Given the description of an element on the screen output the (x, y) to click on. 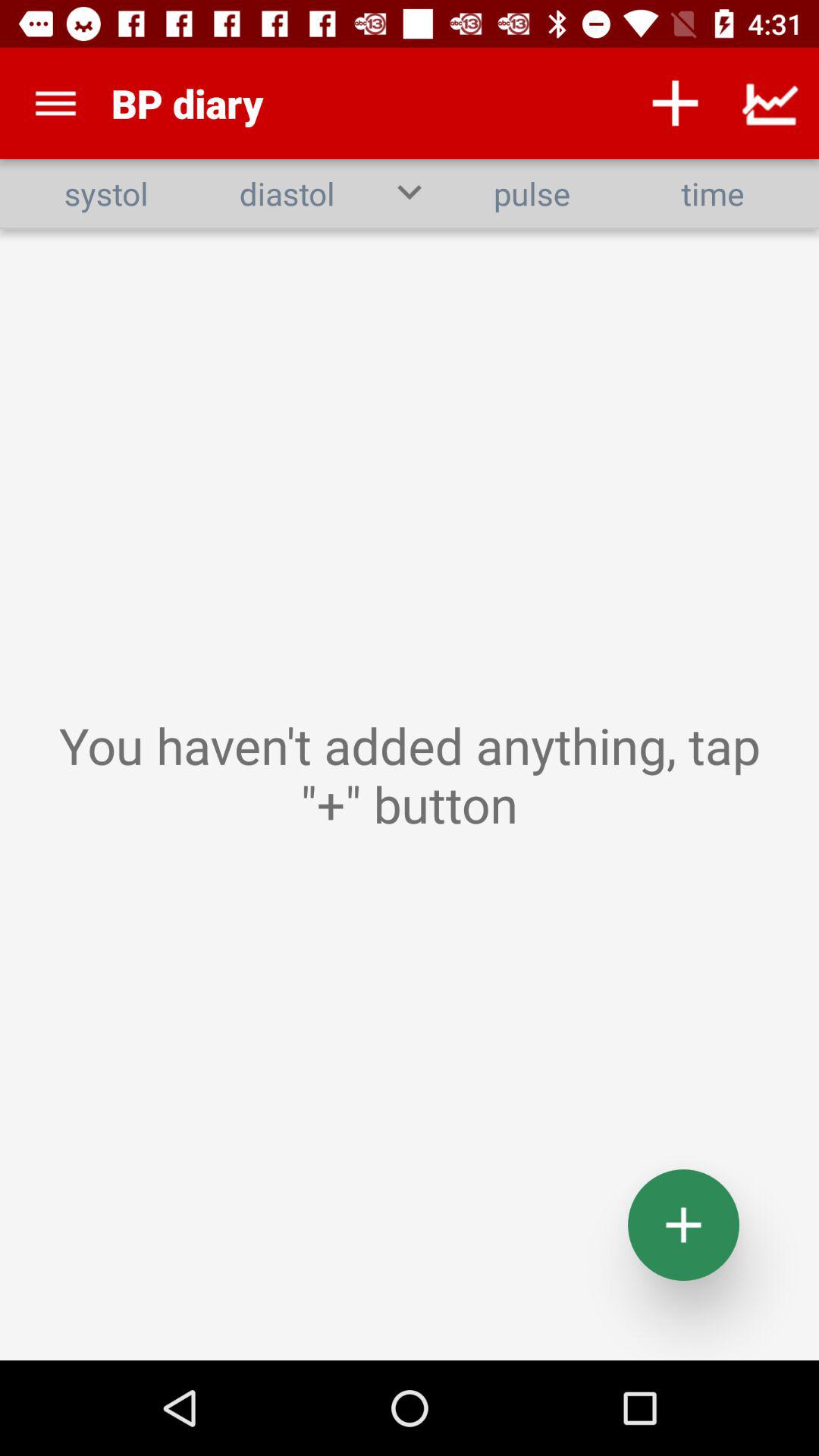
select the first icon which is right to the text bp diary (675, 103)
click on the add icon (683, 1225)
click on icon which is at top right corner (771, 103)
